Given the description of an element on the screen output the (x, y) to click on. 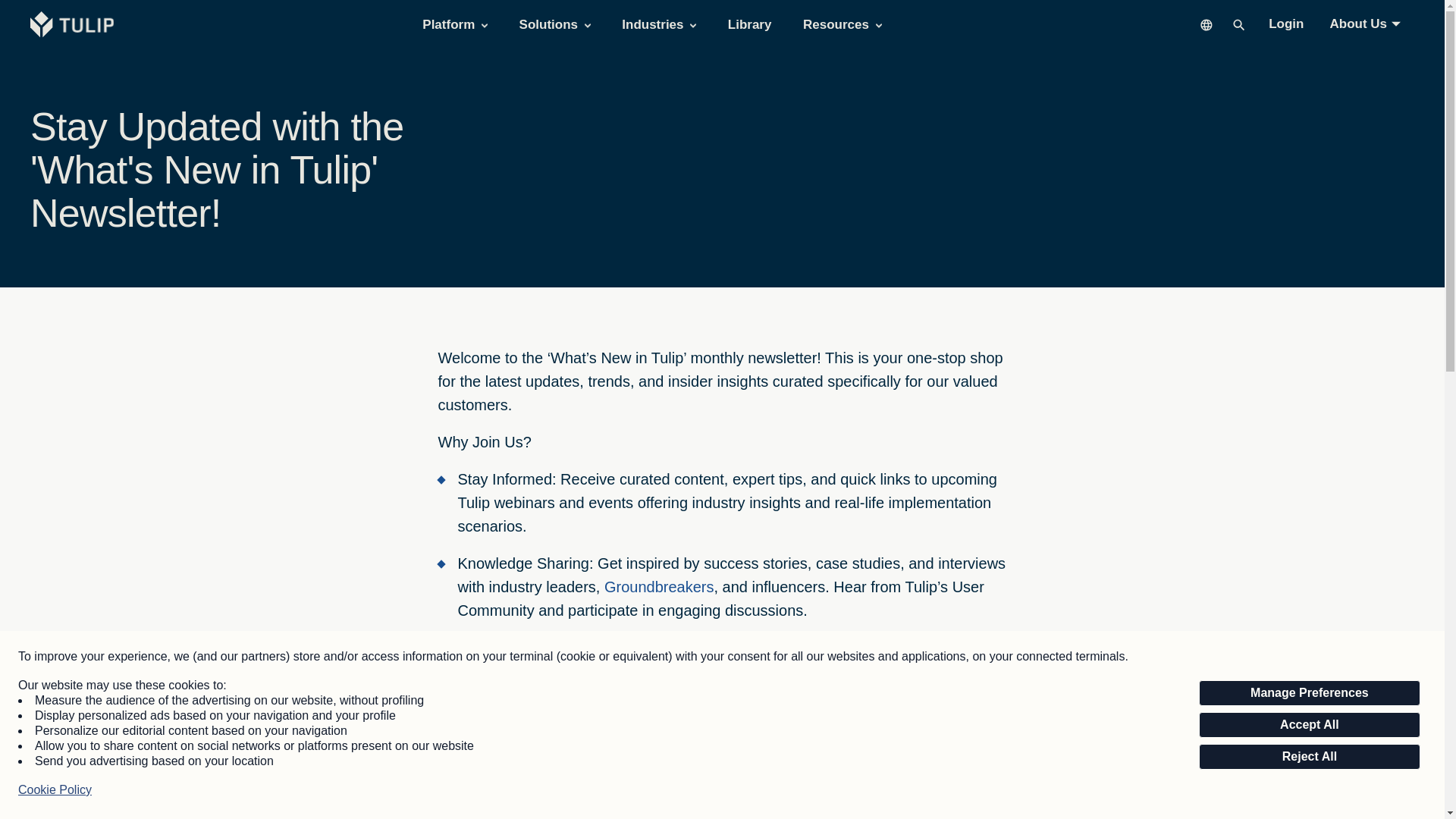
Cookie Policy (54, 789)
Accept All (1309, 724)
Reject All (1309, 756)
Tulip (73, 23)
Manage Preferences (1309, 692)
